Given the description of an element on the screen output the (x, y) to click on. 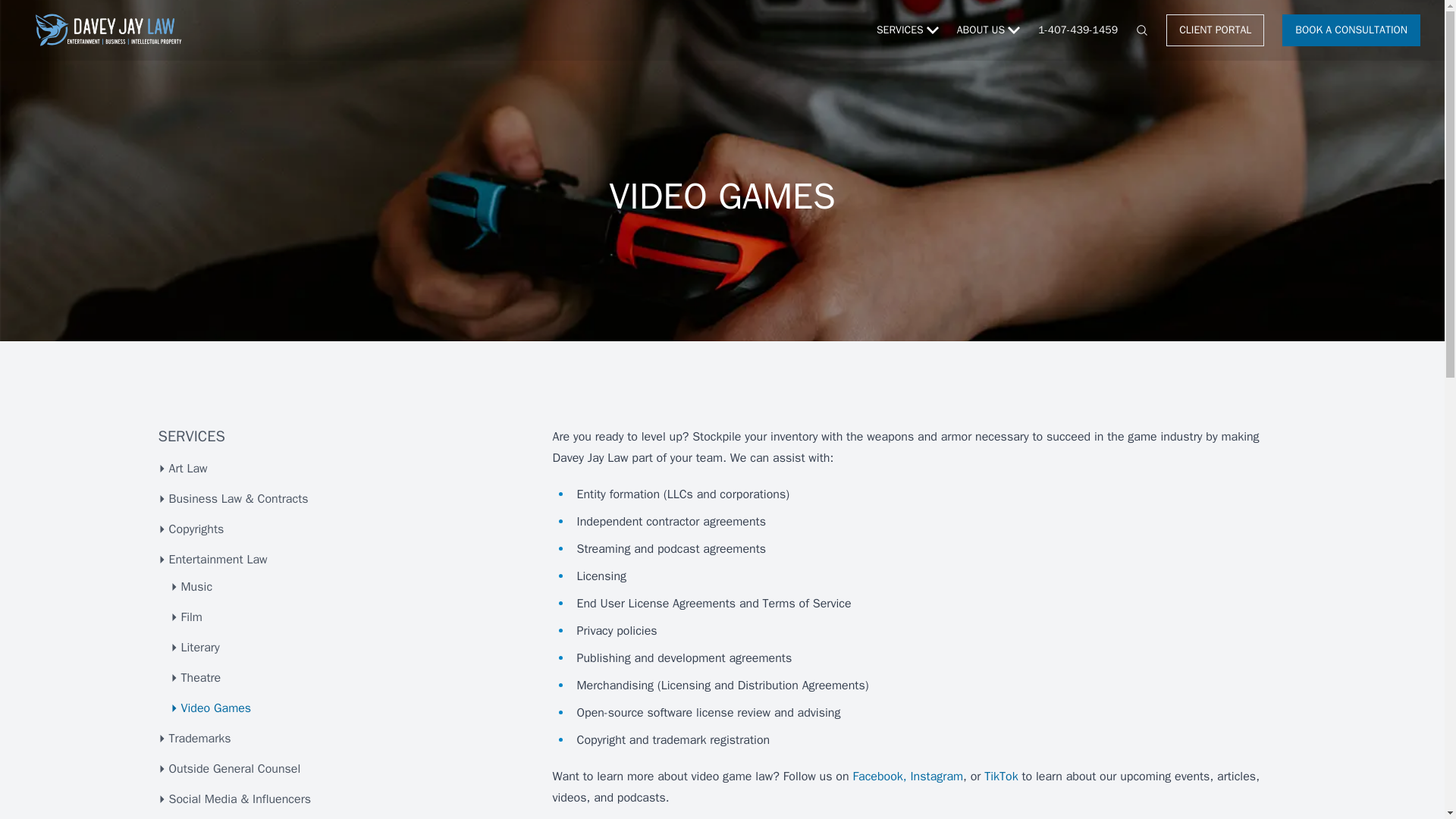
Instagram (936, 776)
Theatre (347, 678)
SERVICES (907, 29)
CLIENT PORTAL (1214, 29)
TikTok (1000, 776)
Trademarks (340, 738)
Outside General Counsel (340, 769)
Art Law (340, 468)
Facebook, (878, 776)
Video Games (347, 708)
